Given the description of an element on the screen output the (x, y) to click on. 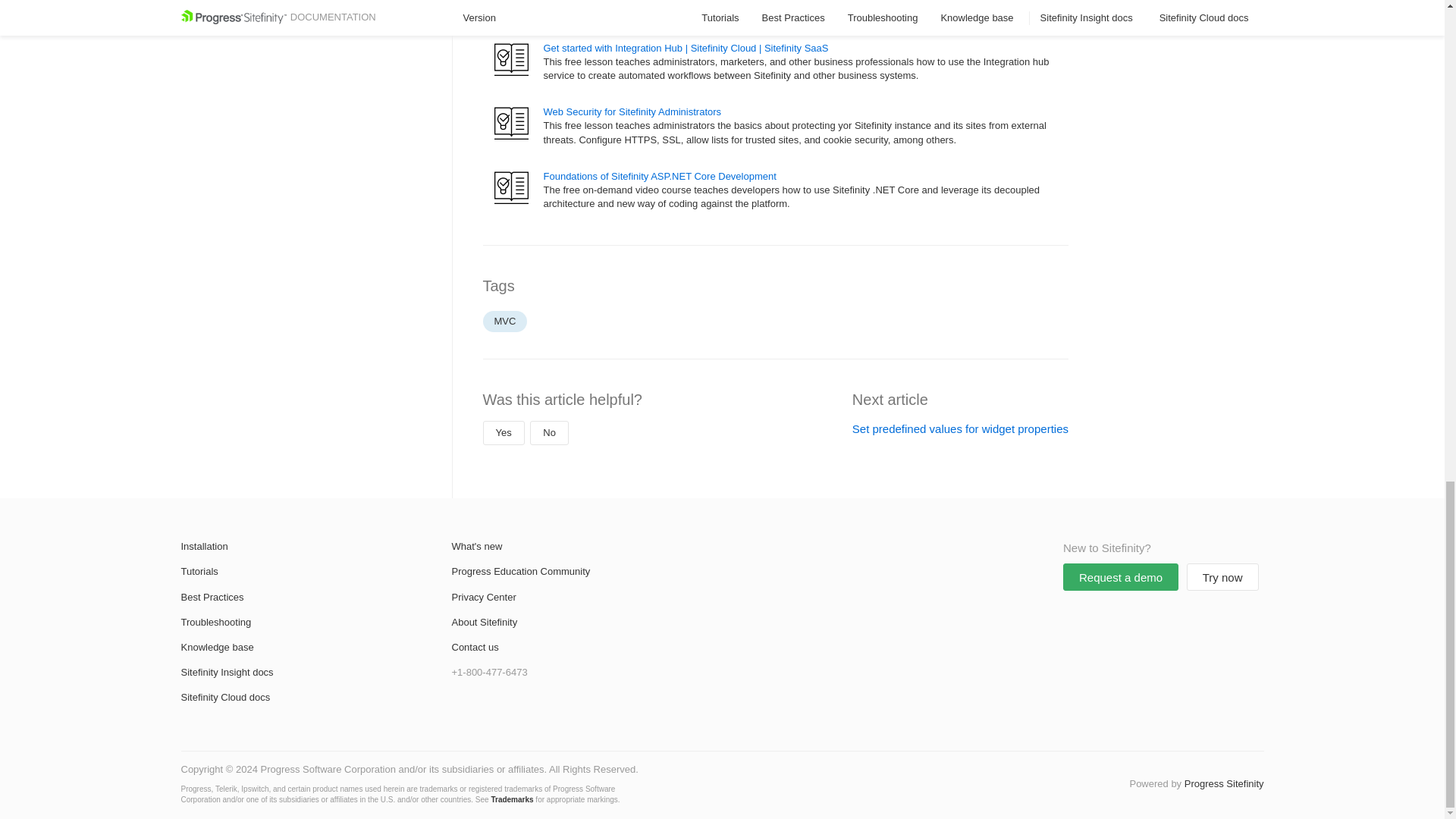
Web Security for Sitefinity Administrators (631, 111)
Foundations of Sitefinity ASP.NET Core Development (659, 175)
